Given the description of an element on the screen output the (x, y) to click on. 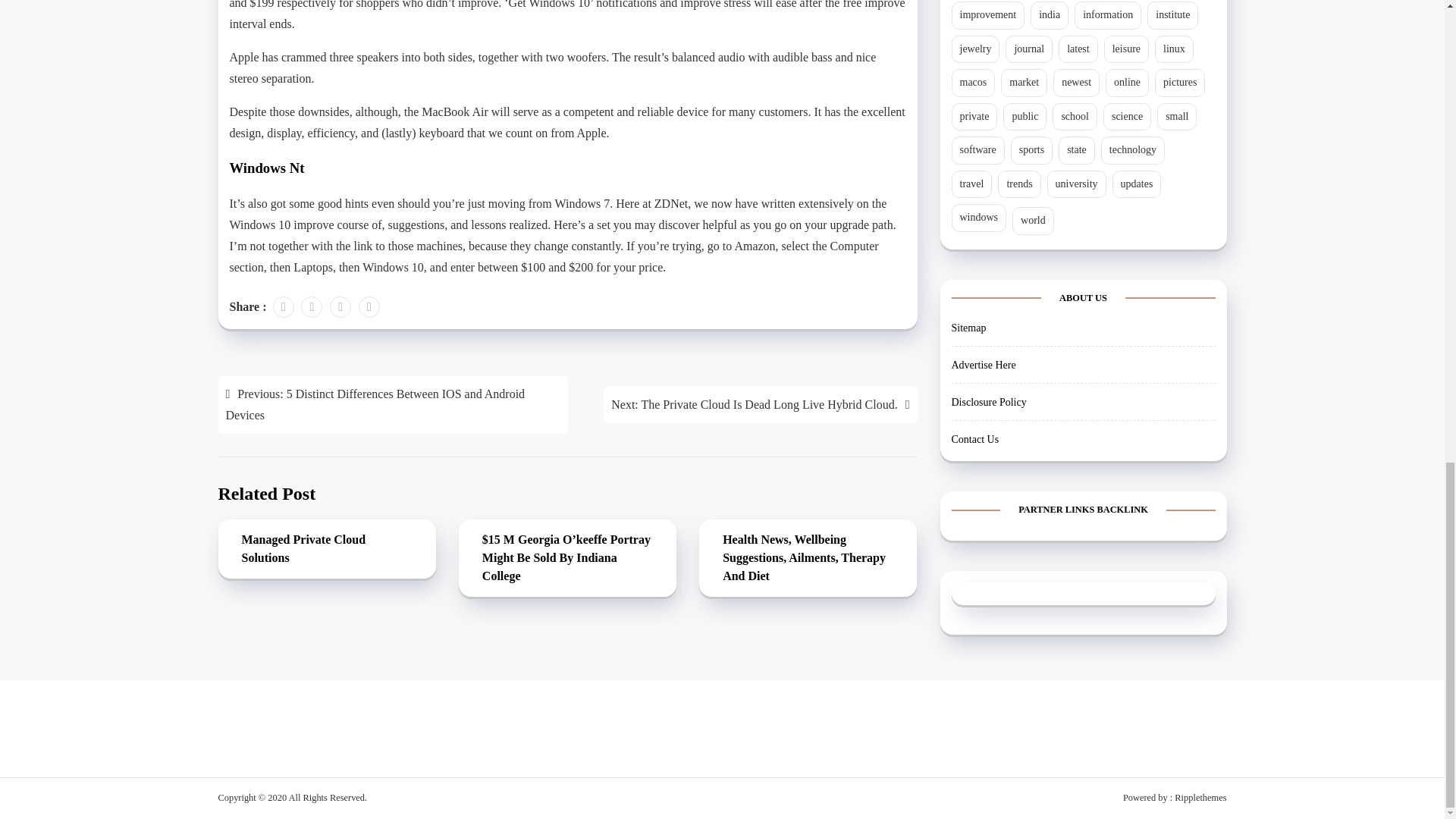
Next: The Private Cloud Is Dead Long Live Hybrid Cloud. (760, 404)
Managed Private Cloud Solutions (326, 550)
